Given the description of an element on the screen output the (x, y) to click on. 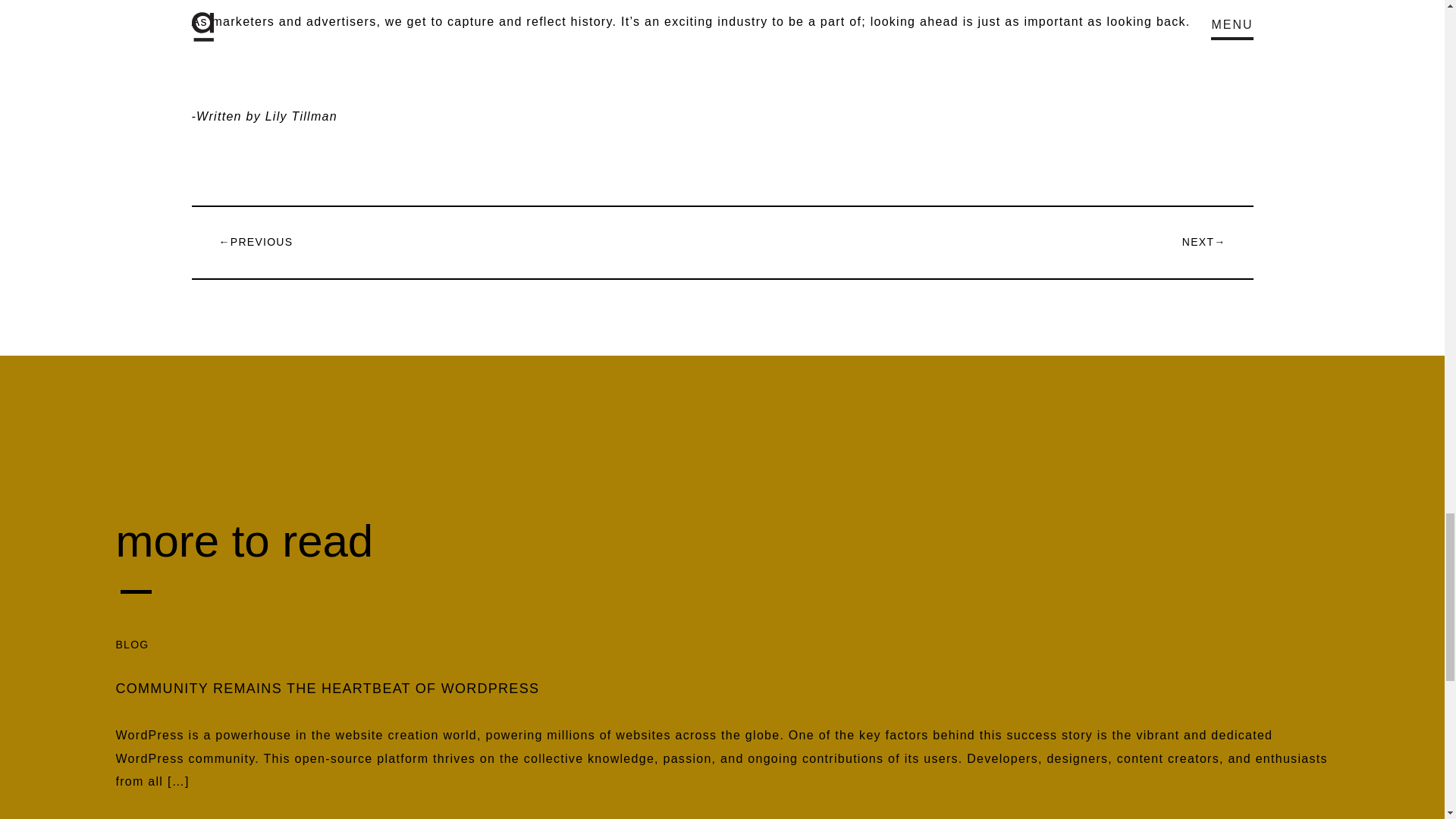
PREVIOUS (262, 241)
NEXT (1198, 241)
